Given the description of an element on the screen output the (x, y) to click on. 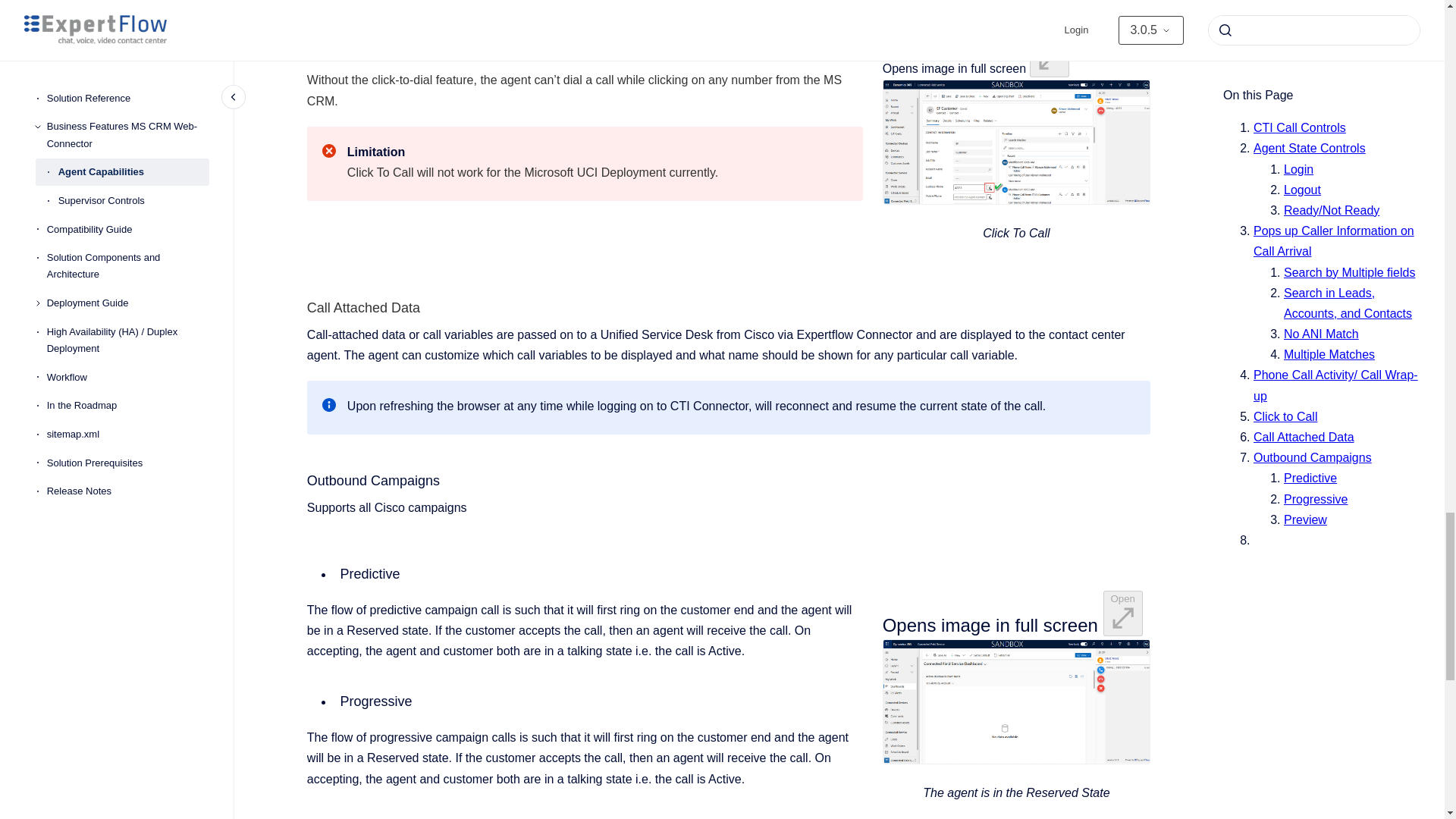
Copy to clipboard (300, 306)
Copy to clipboard (875, 602)
Copy to clipboard (300, 479)
Copy to clipboard (300, 5)
